Given the description of an element on the screen output the (x, y) to click on. 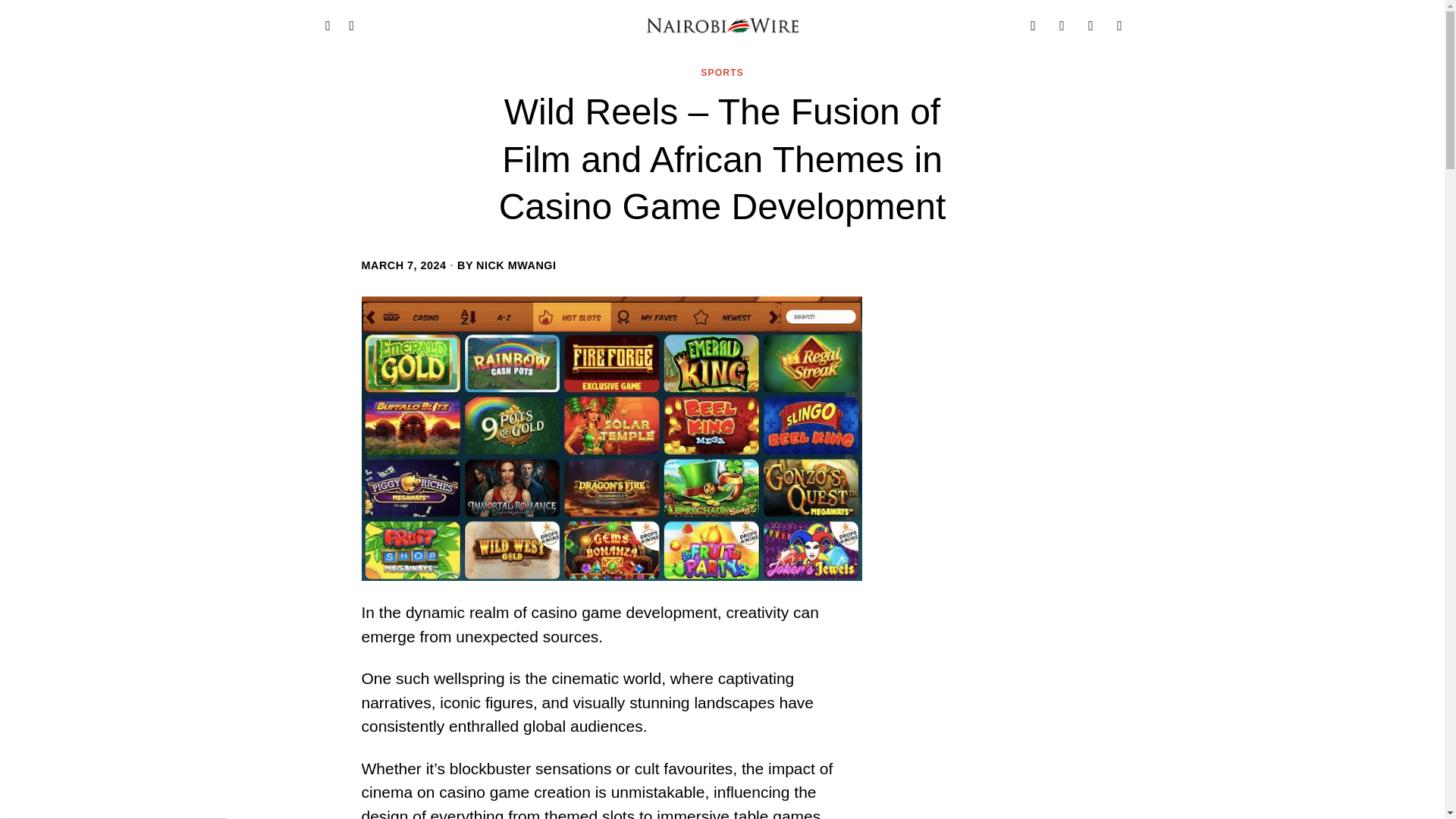
07 Mar, 2024 06:12:07 (403, 264)
NICK MWANGI (516, 264)
SPORTS (721, 73)
